Given the description of an element on the screen output the (x, y) to click on. 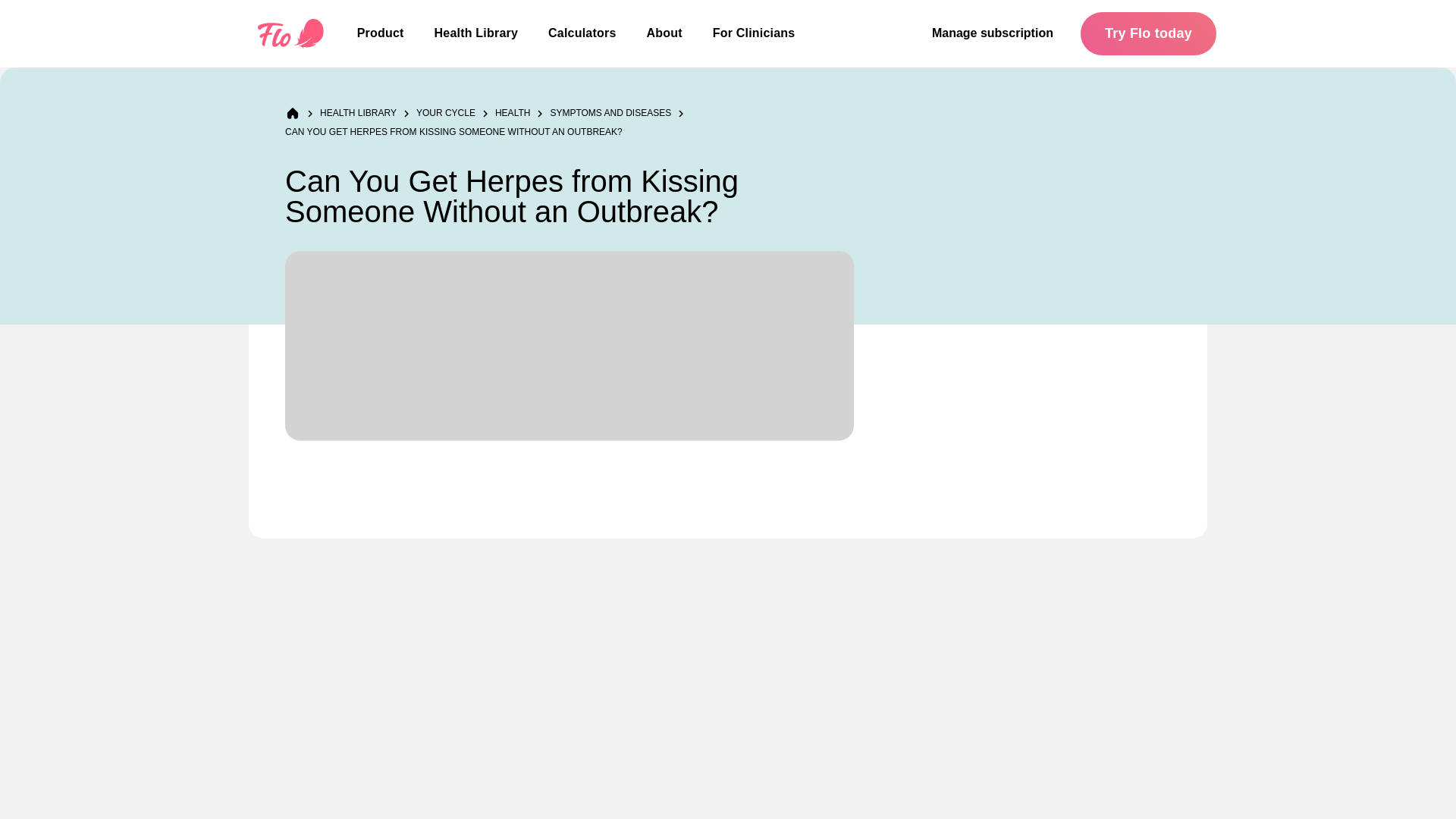
Try Flo today (1147, 33)
Manage subscription (992, 32)
